Given the description of an element on the screen output the (x, y) to click on. 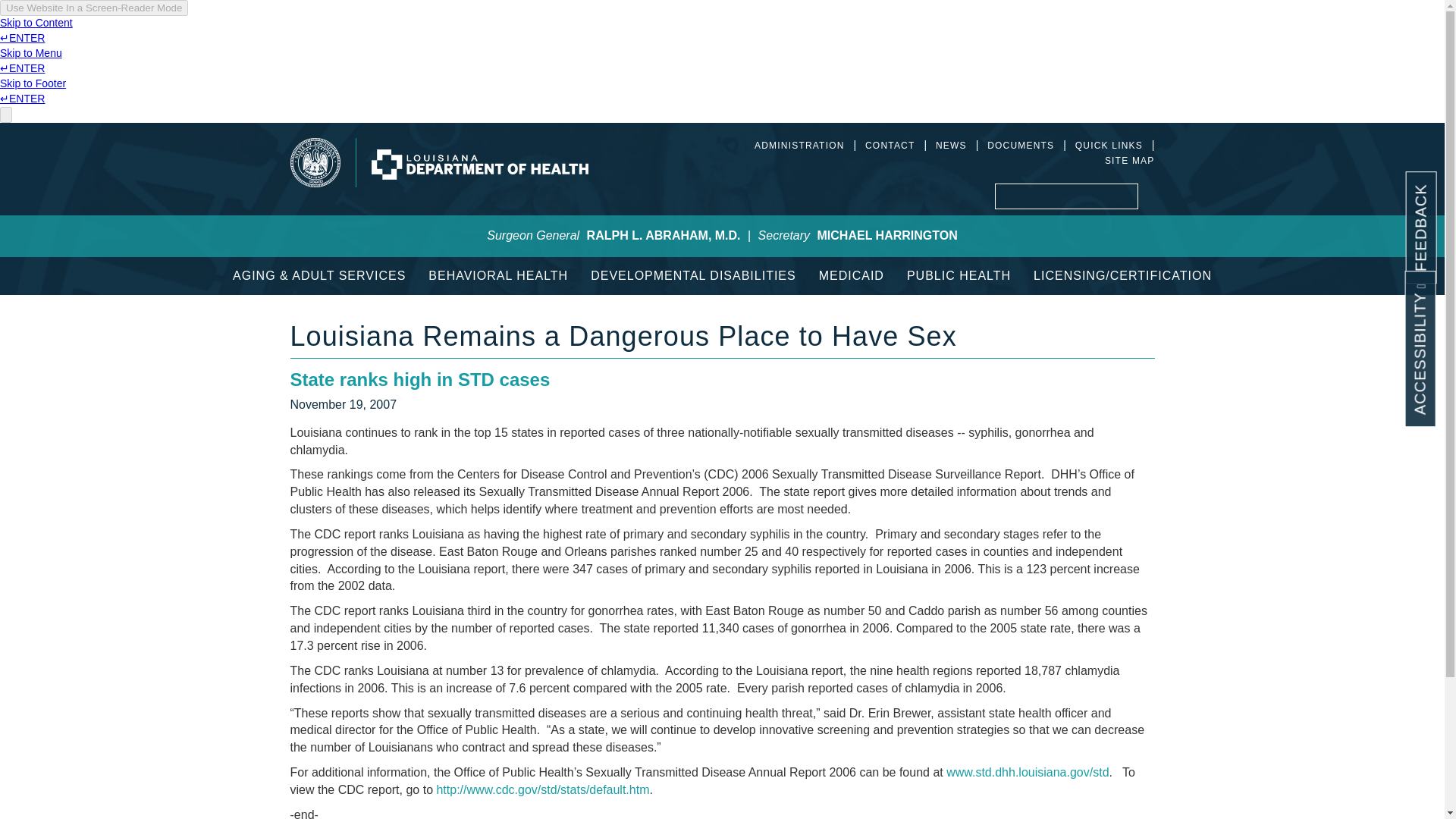
NEWS (951, 145)
SITE MAP (1129, 160)
CONTACT (889, 145)
QUICK LINKS (1108, 145)
ADMINISTRATION (799, 145)
DOCUMENTS (1020, 145)
BEHAVIORAL HEALTH (497, 275)
DEVELOPMENTAL DISABILITIES (693, 275)
MEDICAID (851, 275)
